Given the description of an element on the screen output the (x, y) to click on. 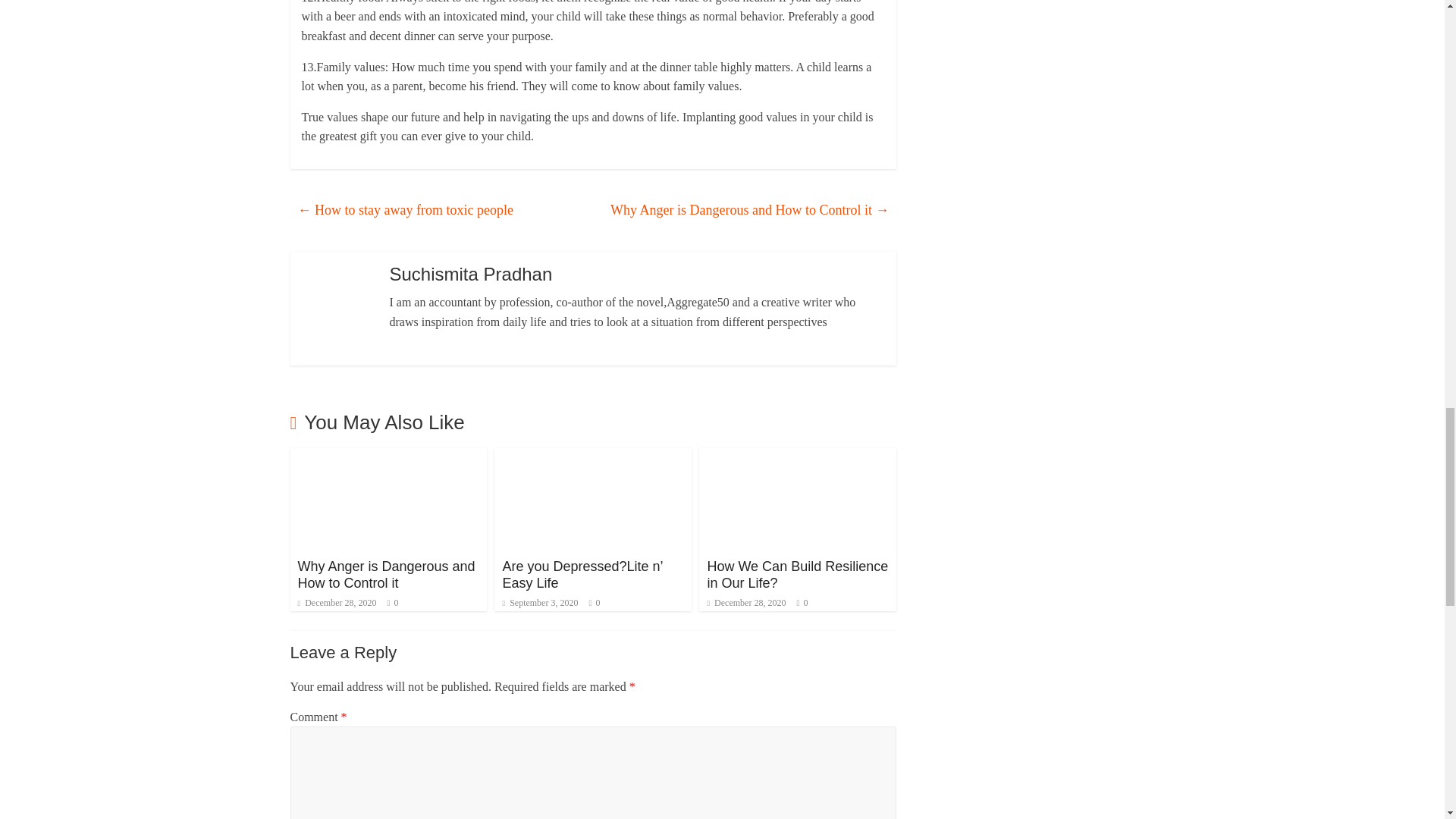
Why Anger is Dangerous and How to Control it (385, 574)
Why Anger is Dangerous and How to Control it (385, 574)
11:37 am (336, 602)
December 28, 2020 (336, 602)
September 3, 2020 (540, 602)
December 28, 2020 (746, 602)
How We Can Build Resilience in Our Life? (797, 574)
Why Anger is Dangerous and How to Control it (387, 457)
